Given the description of an element on the screen output the (x, y) to click on. 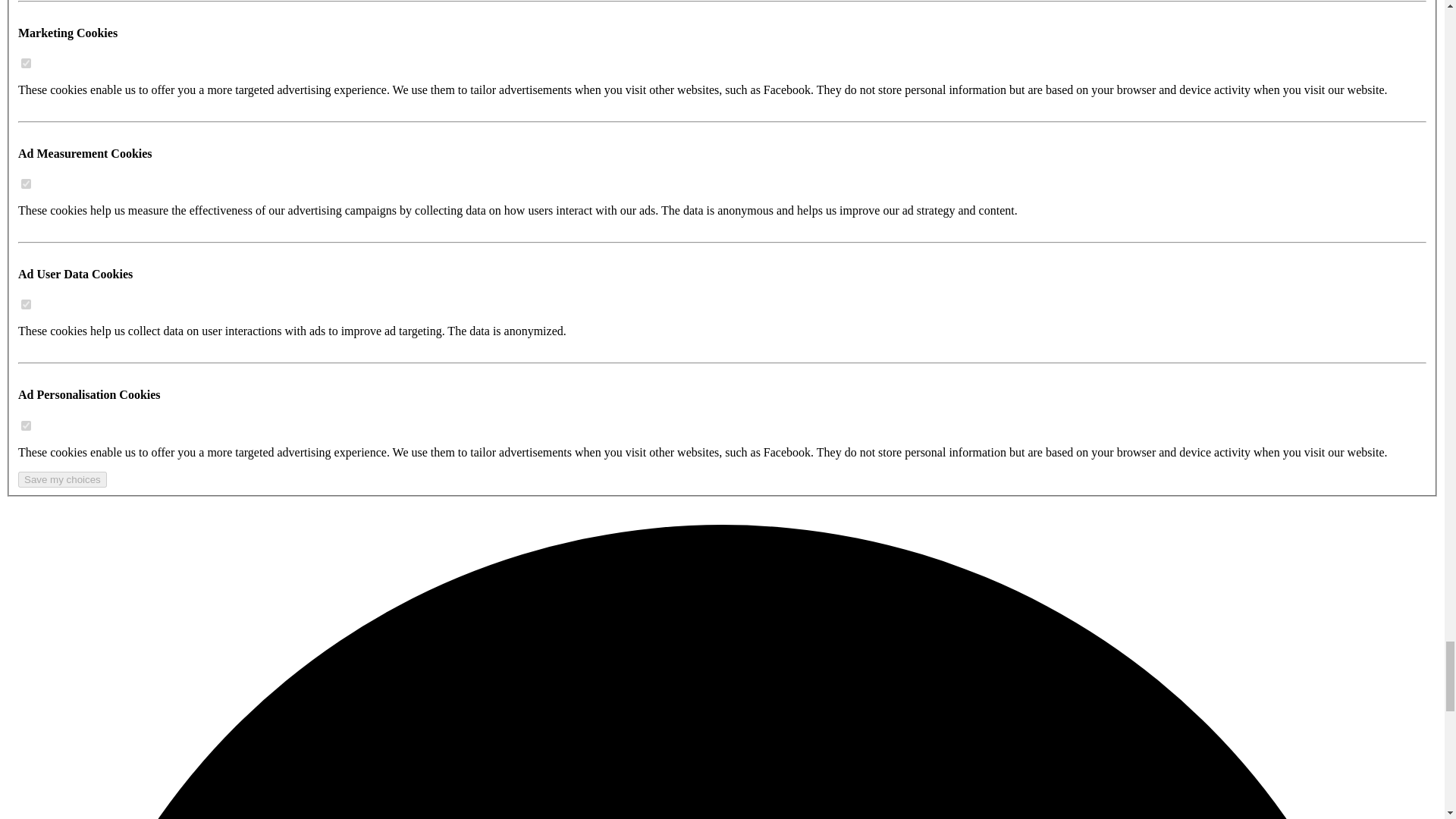
on (25, 304)
on (25, 425)
on (25, 184)
on (25, 62)
